Given the description of an element on the screen output the (x, y) to click on. 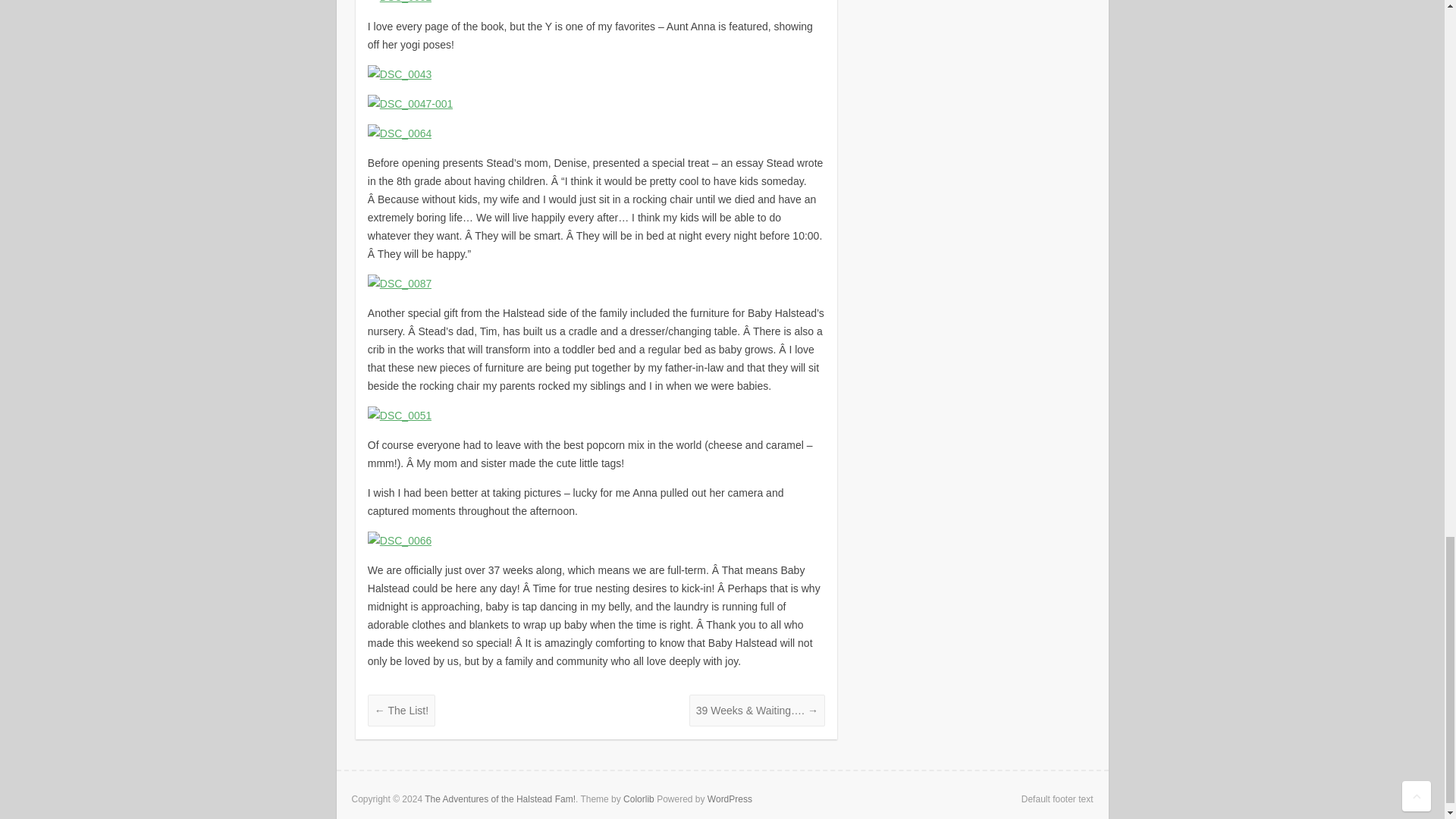
The Adventures of the Halstead Fam! (500, 798)
Colorlib (638, 798)
WordPress (729, 798)
